Given the description of an element on the screen output the (x, y) to click on. 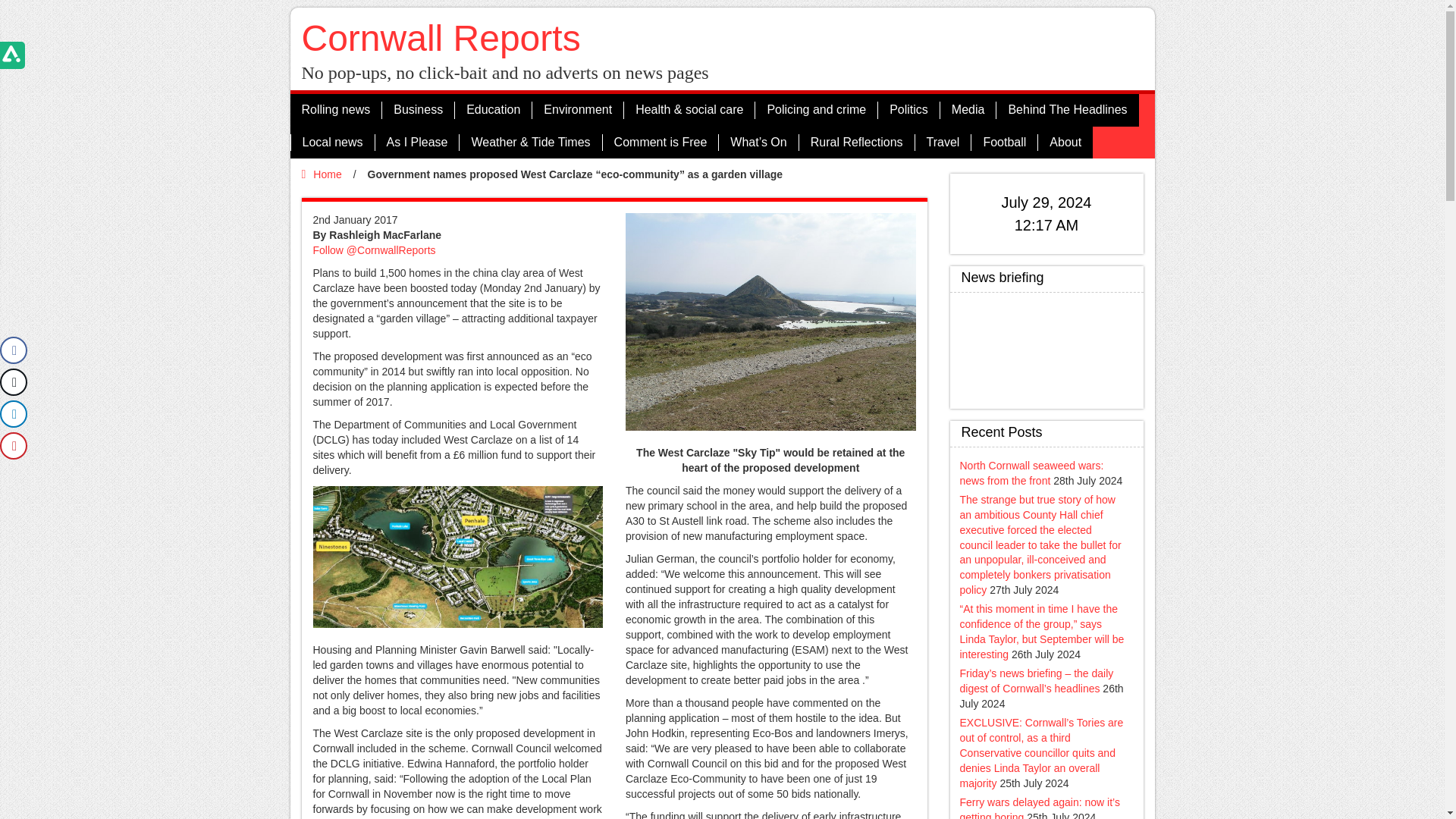
Behind The Headlines (1066, 109)
Comment is Free (660, 142)
Business (417, 109)
Travel (942, 142)
About (1064, 142)
Policing and crime (815, 109)
Cornwall Reports (1046, 347)
Politics (908, 109)
North Cornwall seaweed wars: news from the front (1031, 472)
Environment (577, 109)
Local news (331, 142)
Cornwall Reports (440, 38)
As I Please (417, 142)
Home (321, 174)
